Given the description of an element on the screen output the (x, y) to click on. 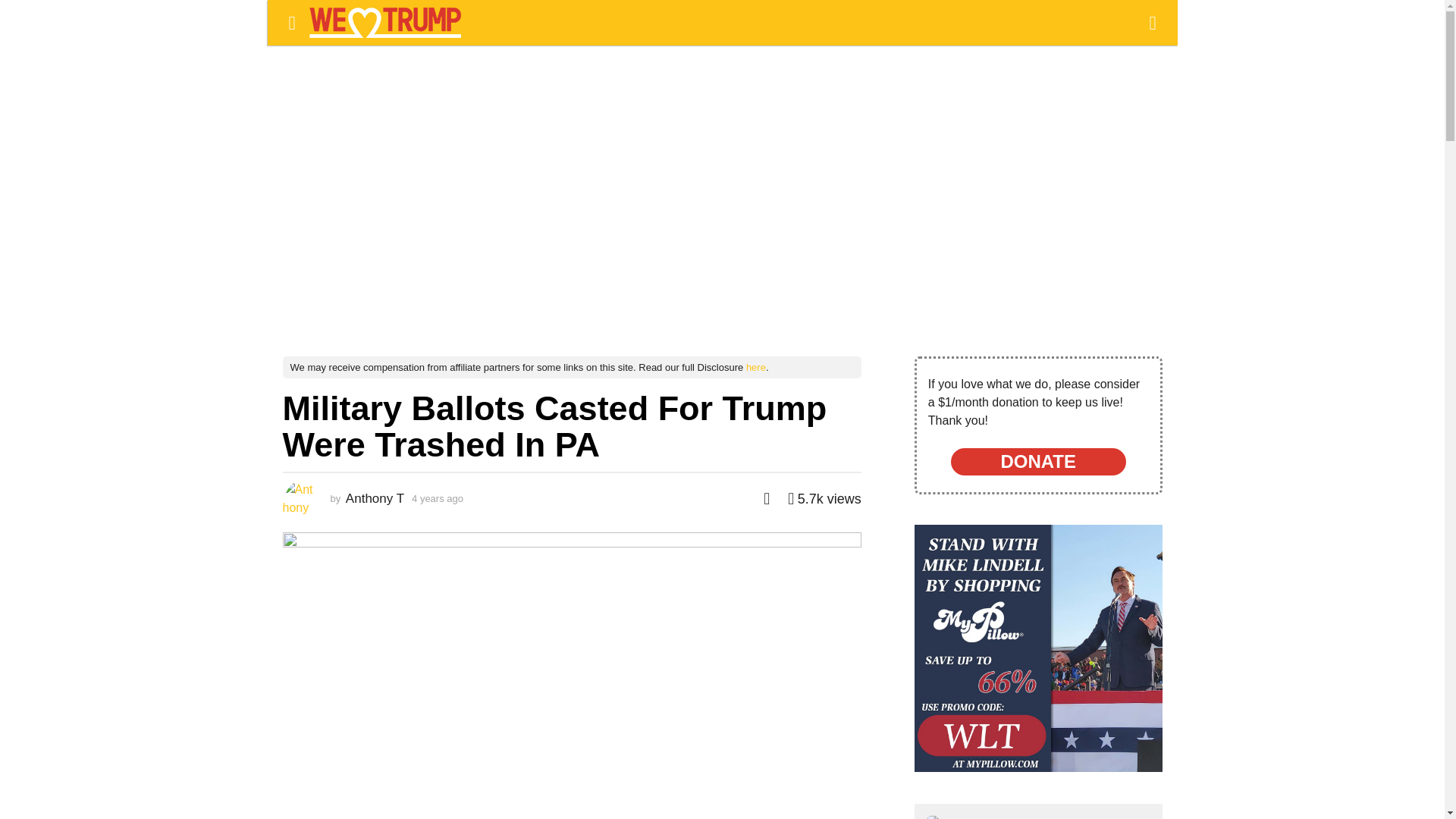
Anthony T (375, 498)
here (755, 367)
